Given the description of an element on the screen output the (x, y) to click on. 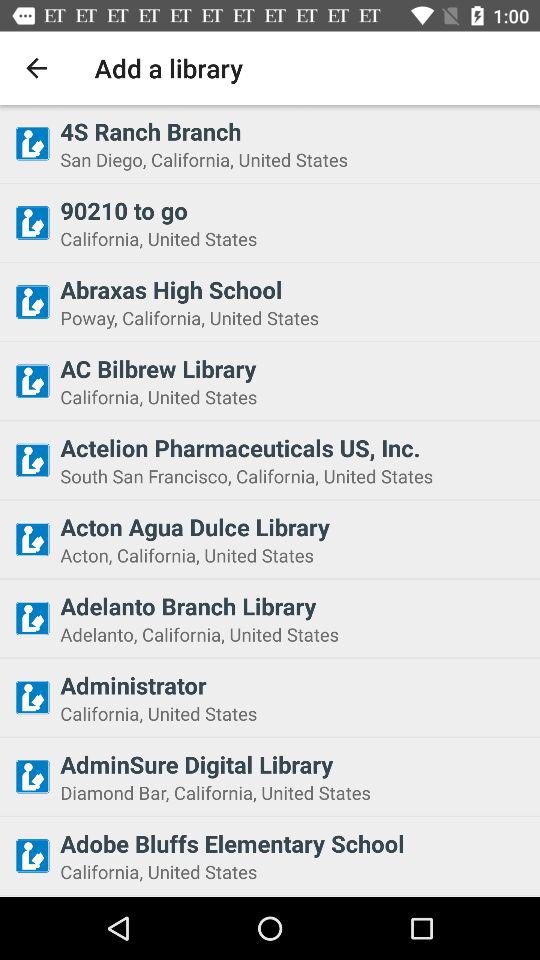
launch icon above south san francisco icon (294, 447)
